Given the description of an element on the screen output the (x, y) to click on. 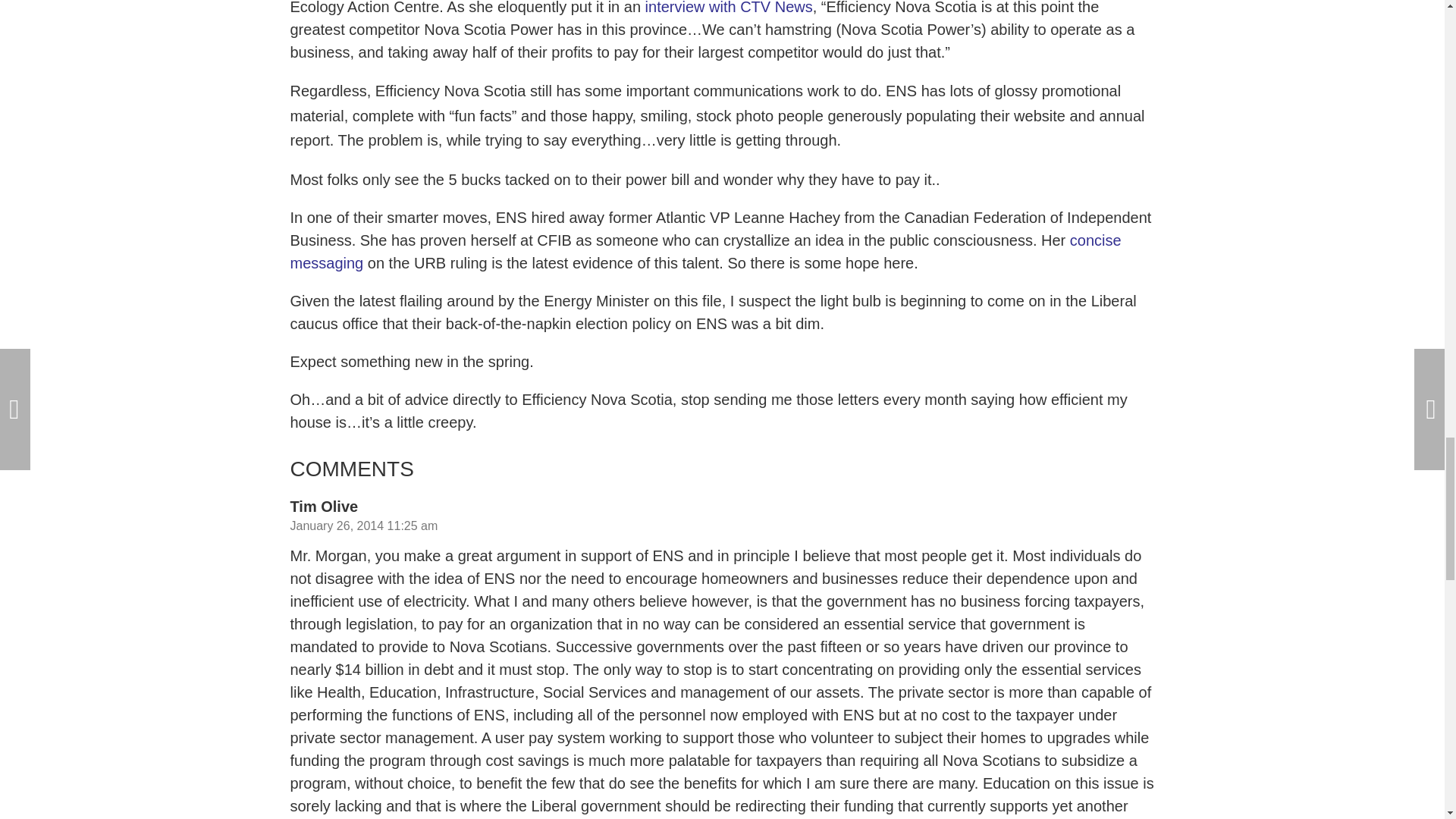
interview with CTV News (728, 7)
January 26, 2014 11:25 am (363, 524)
January 26, 2014 11:25 am (363, 524)
concise messaging (705, 251)
